Given the description of an element on the screen output the (x, y) to click on. 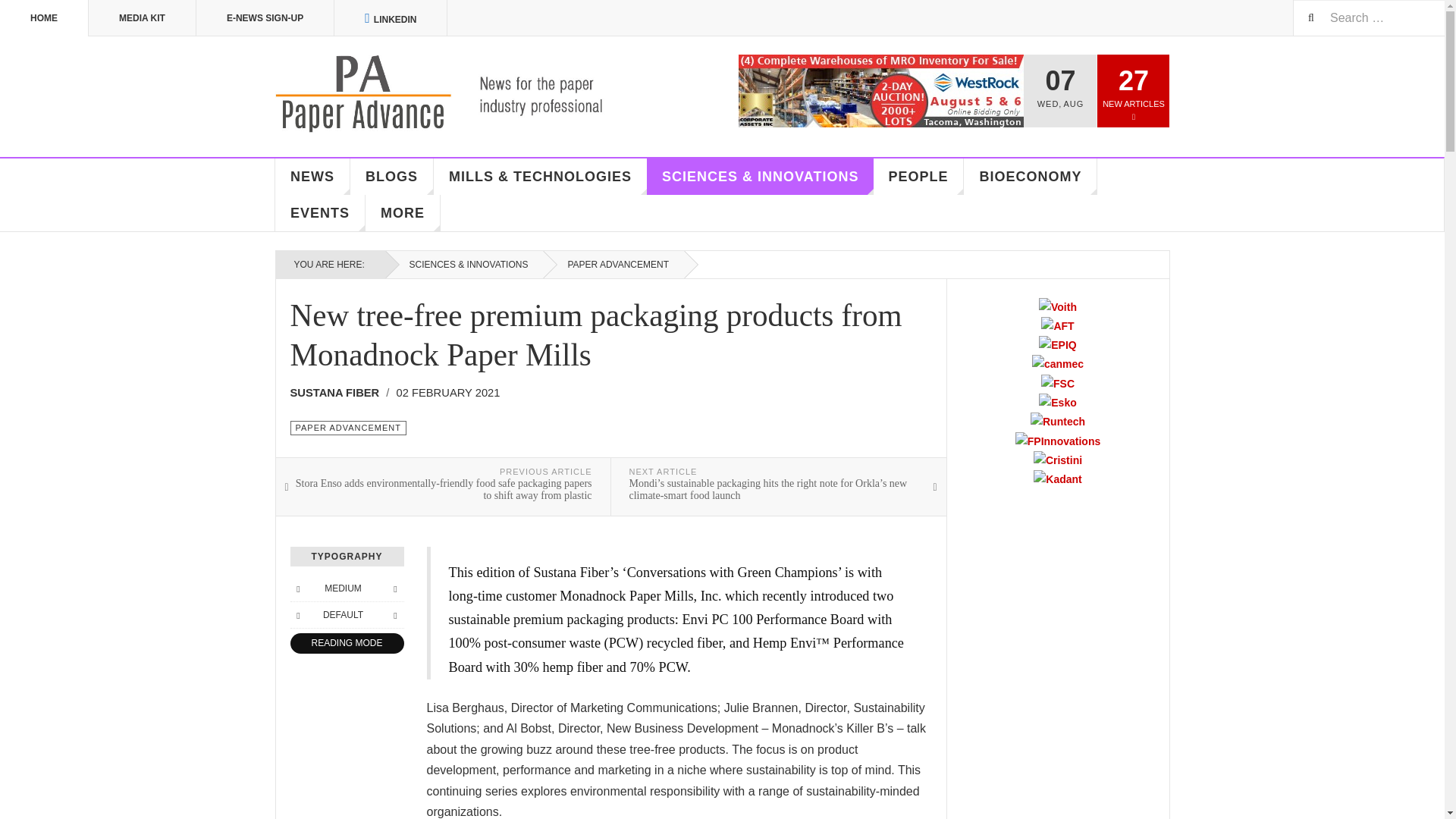
MEDIA KIT (142, 18)
LINKEDIN (390, 18)
NEWS (312, 176)
Paper Advance (461, 93)
HOME (44, 18)
E-NEWS SIGN-UP (265, 18)
